Given the description of an element on the screen output the (x, y) to click on. 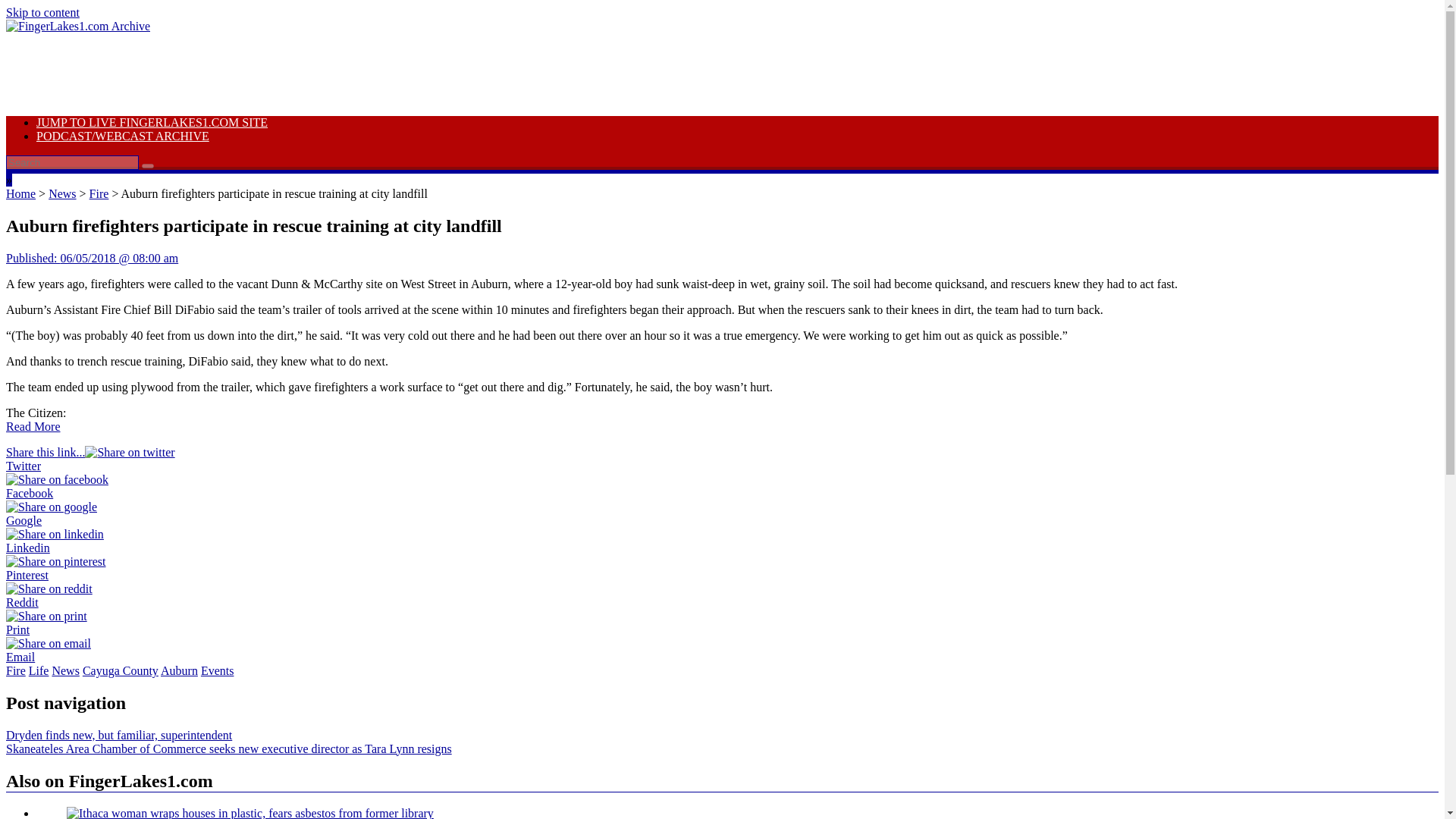
reddit (49, 589)
Events (217, 670)
Home (19, 193)
Fire (98, 193)
Read More (33, 426)
News (64, 670)
facebook (56, 479)
Dryden finds new, but familiar, superintendent (118, 735)
JUMP TO LIVE FINGERLAKES1.COM SITE (151, 122)
Auburn (179, 670)
Skip to content (42, 11)
Cayuga County (120, 670)
google (51, 507)
News (61, 193)
